Given the description of an element on the screen output the (x, y) to click on. 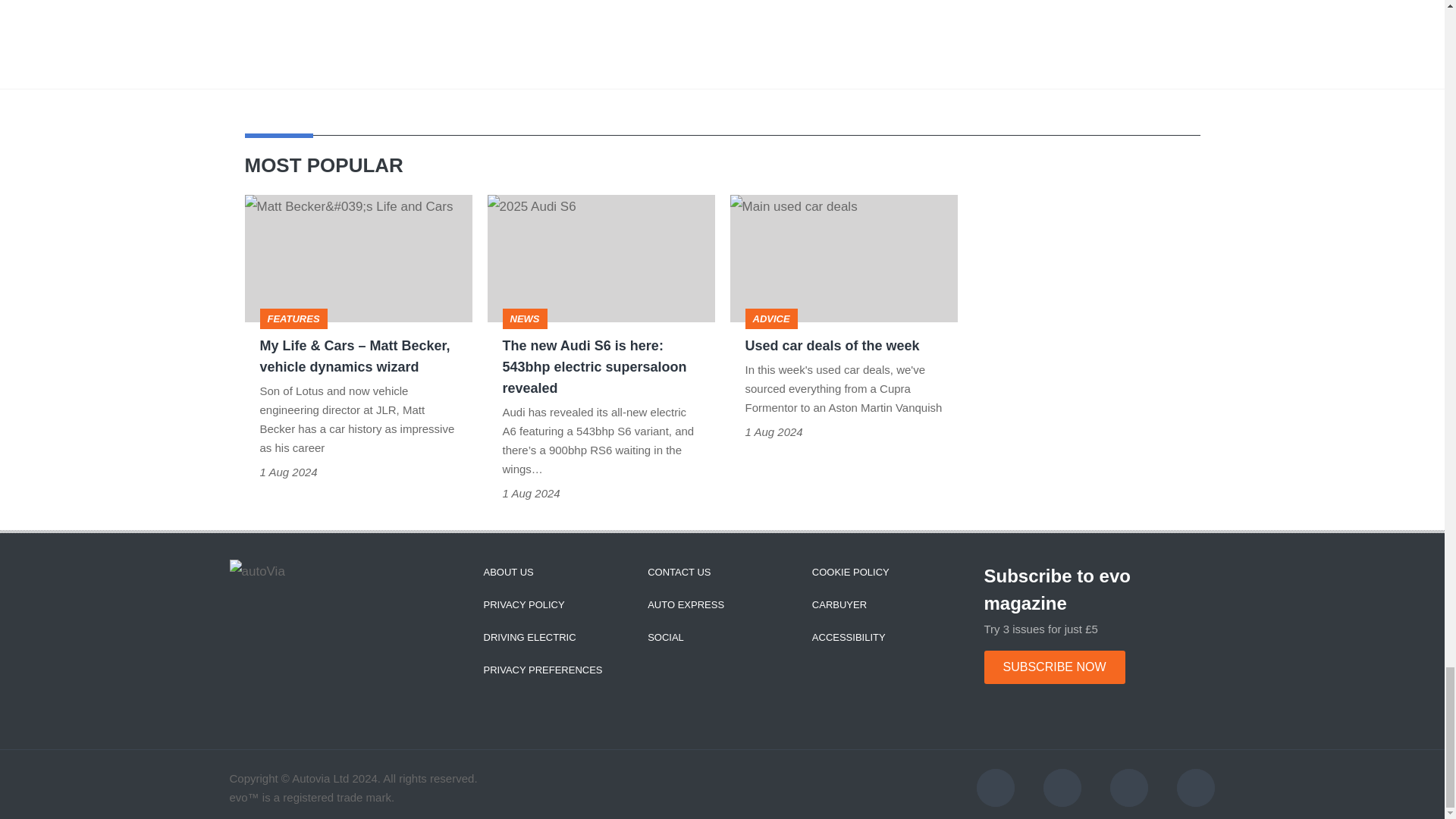
ABOUT US (508, 572)
Subscribe now (1054, 666)
PRIVACY POLICY (523, 604)
CONTACT US (678, 572)
COOKIE POLICY (850, 572)
